Given the description of an element on the screen output the (x, y) to click on. 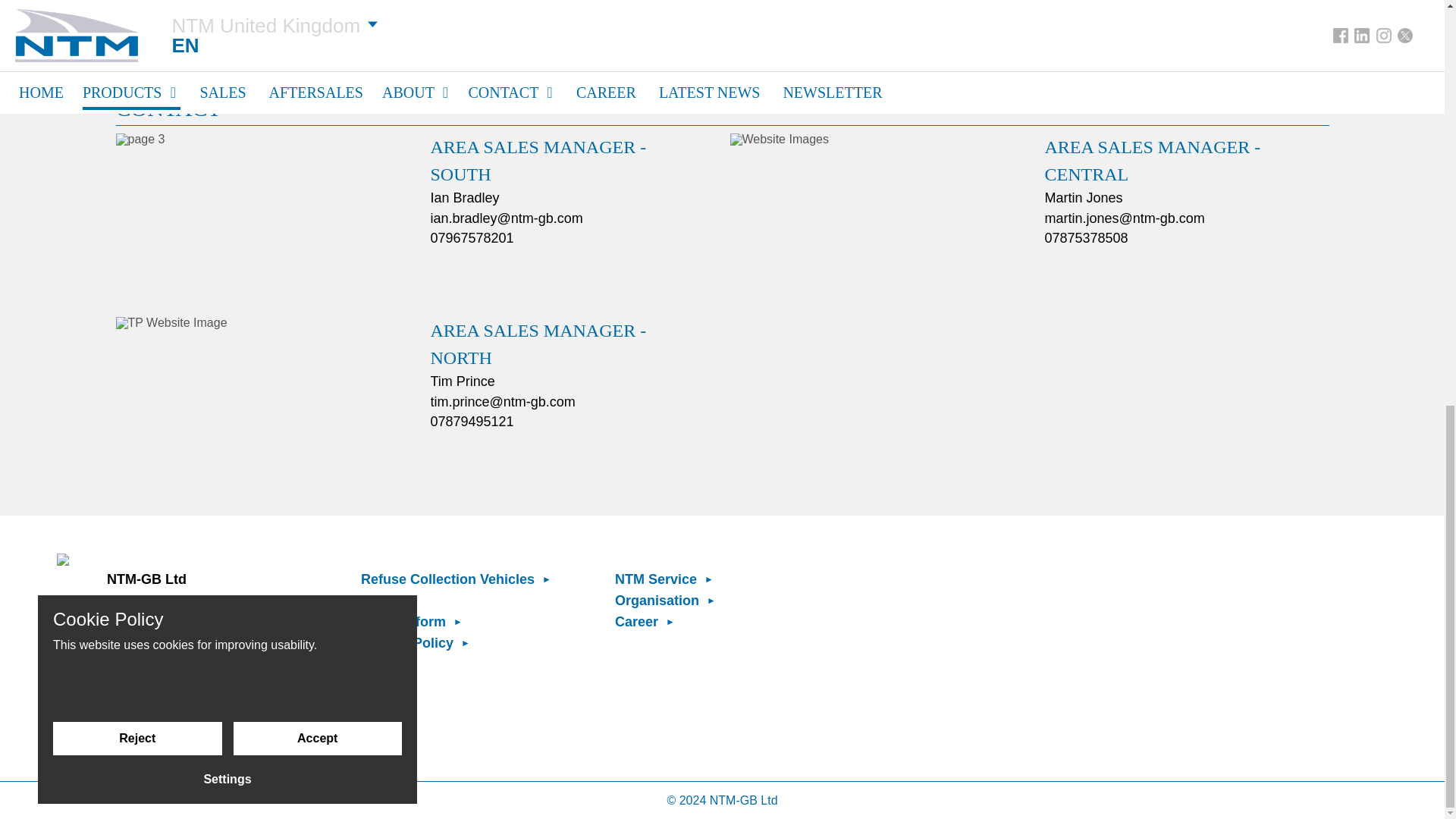
Click here to read more on "KG-2K" (406, 4)
